Given the description of an element on the screen output the (x, y) to click on. 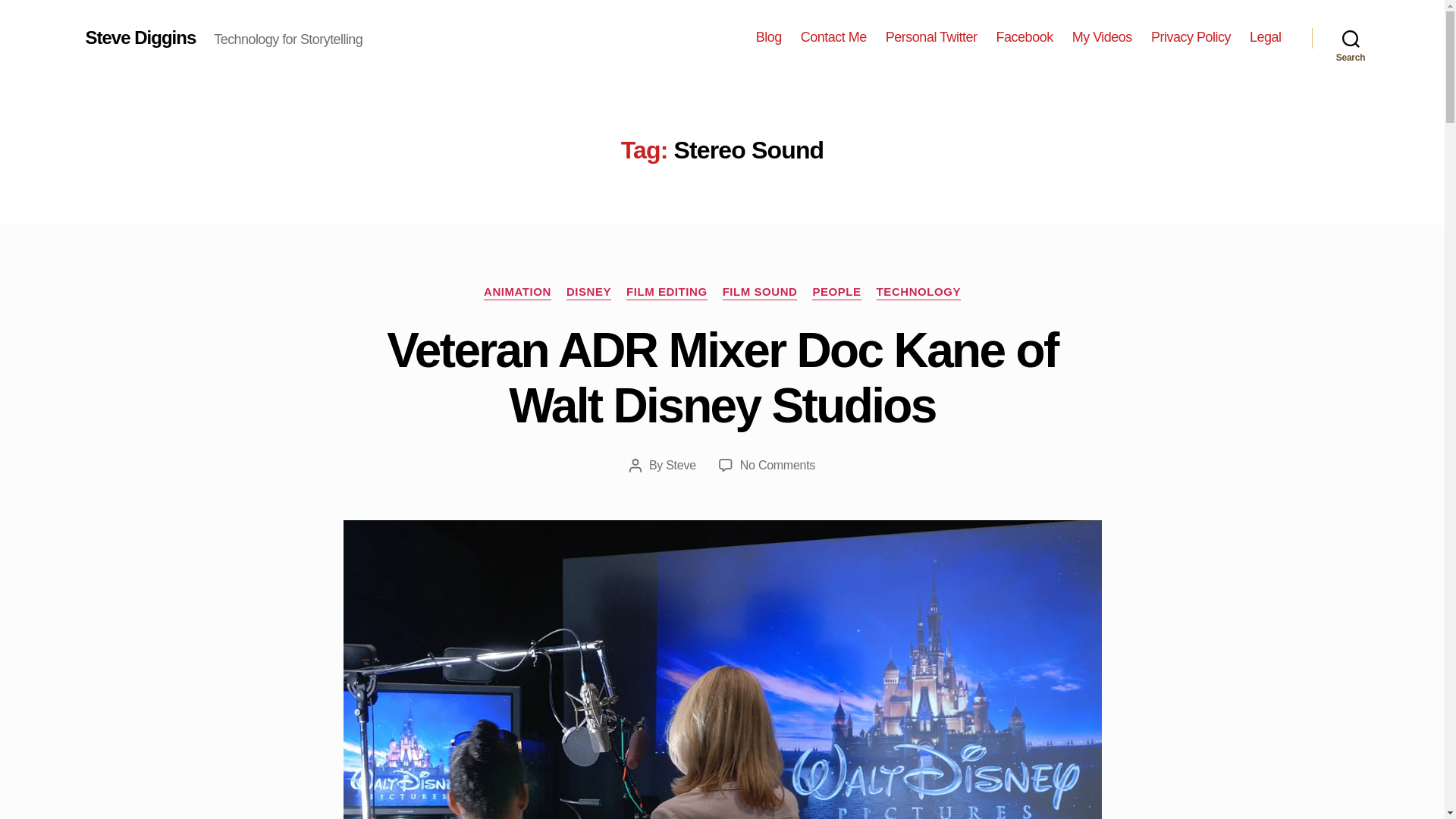
Steve Diggins (139, 37)
Blog (768, 37)
My Videos (1101, 37)
TECHNOLOGY (918, 292)
Facebook (1023, 37)
PEOPLE (836, 292)
Search (1350, 37)
Contact Me (833, 37)
DISNEY (588, 292)
Veteran ADR Mixer Doc Kane of Walt Disney Studios (722, 377)
